Given the description of an element on the screen output the (x, y) to click on. 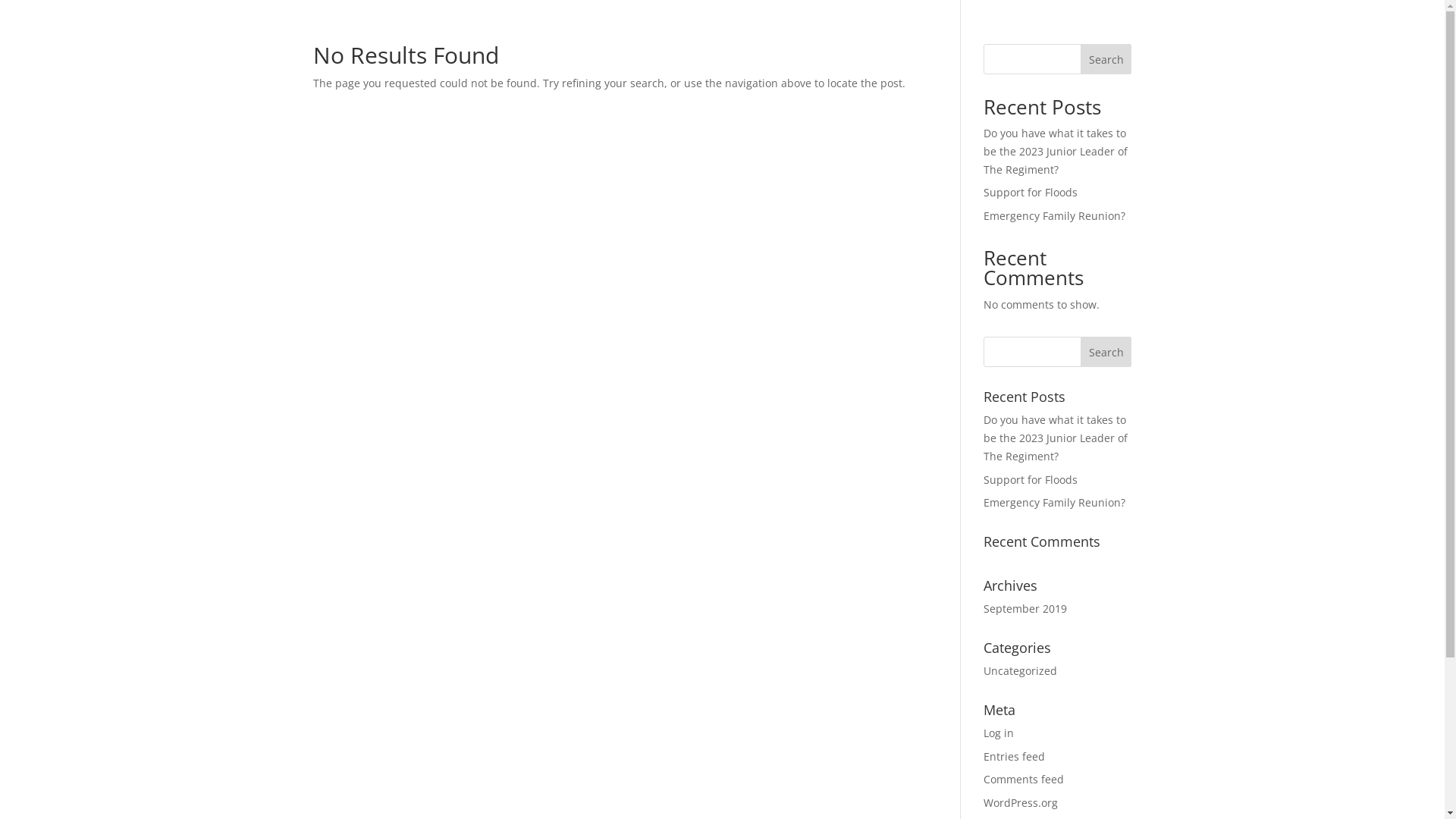
Log in Element type: text (998, 732)
Search Element type: text (1106, 58)
Emergency Family Reunion? Element type: text (1054, 215)
Support for Floods Element type: text (1030, 479)
Entries feed Element type: text (1013, 756)
Emergency Family Reunion? Element type: text (1054, 502)
September 2019 Element type: text (1024, 608)
Comments feed Element type: text (1023, 778)
Support for Floods Element type: text (1030, 192)
WordPress.org Element type: text (1020, 802)
Search Element type: text (1106, 351)
Uncategorized Element type: text (1020, 670)
